Given the description of an element on the screen output the (x, y) to click on. 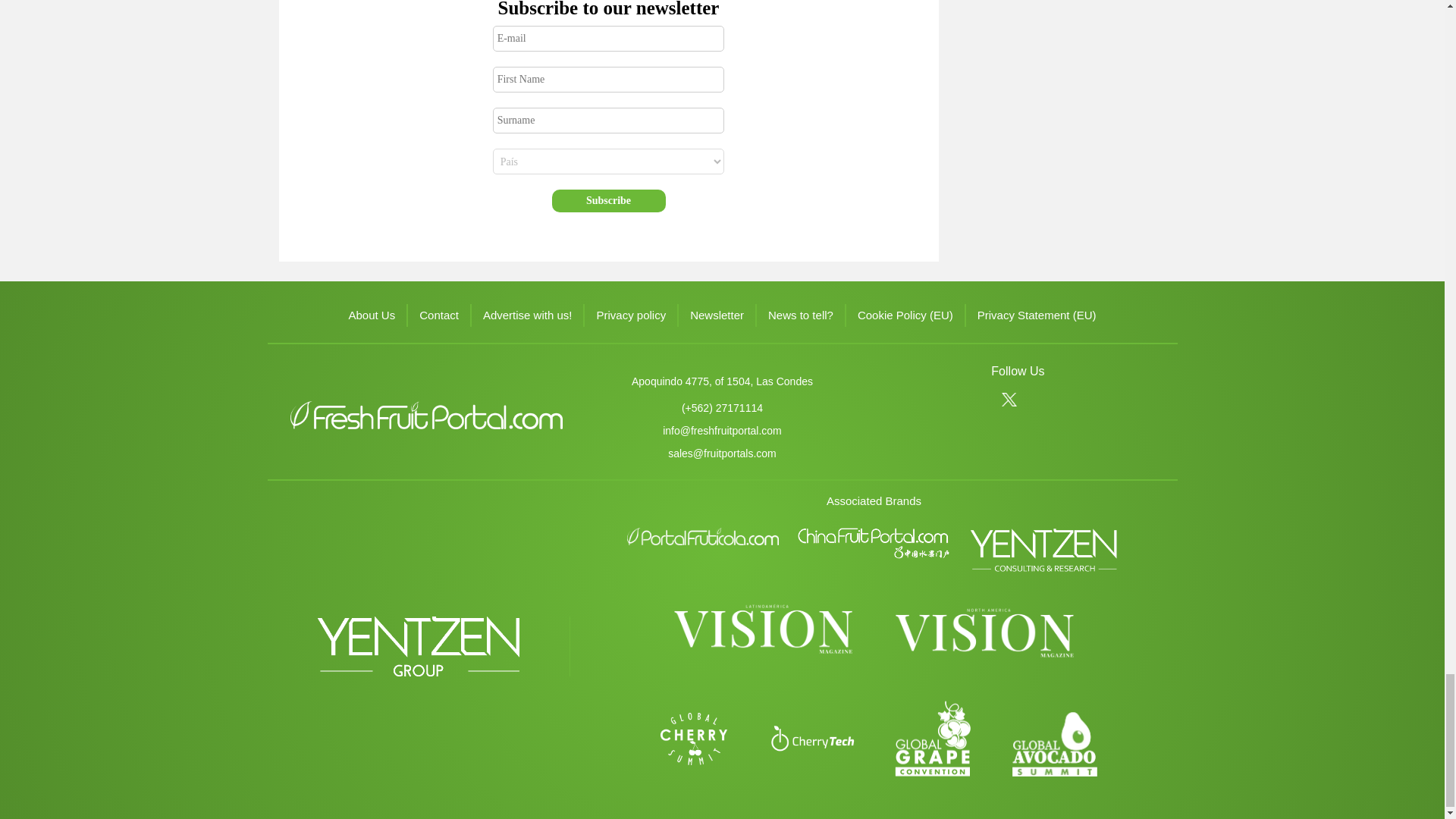
Subscribe (608, 200)
